Given the description of an element on the screen output the (x, y) to click on. 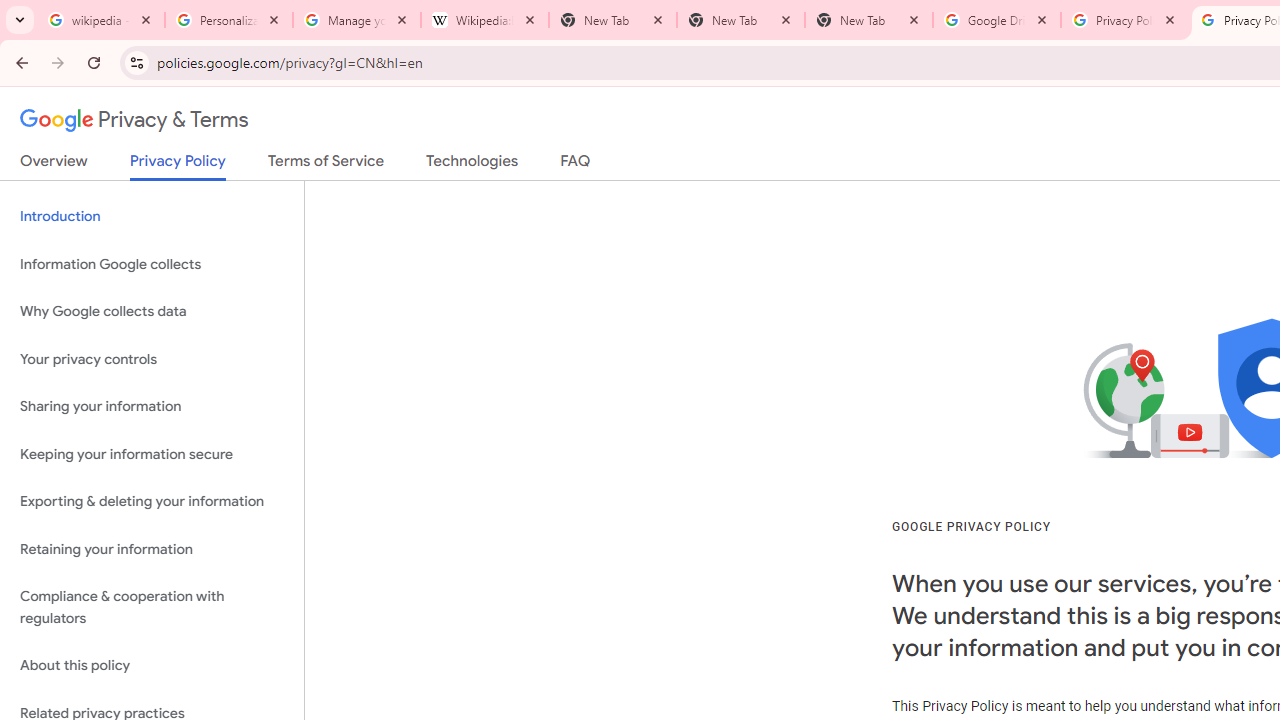
Information Google collects (152, 263)
Personalization & Google Search results - Google Search Help (229, 20)
Technologies (472, 165)
Keeping your information secure (152, 453)
Terms of Service (326, 165)
Your privacy controls (152, 358)
New Tab (869, 20)
New Tab (741, 20)
Google Drive: Sign-in (997, 20)
